Given the description of an element on the screen output the (x, y) to click on. 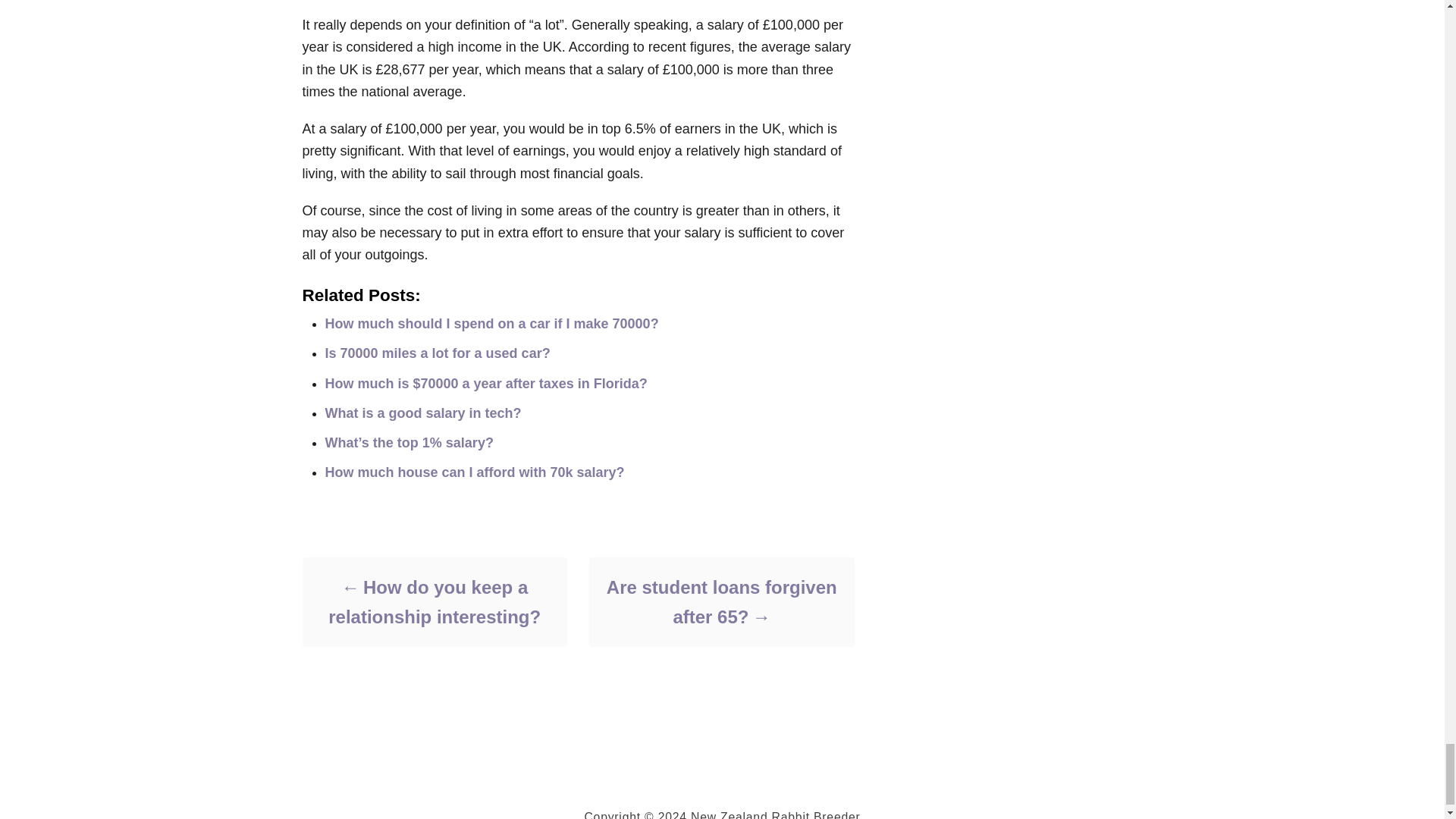
How much house can I afford with 70k salary? (474, 472)
How much should I spend on a car if I make 70000? (491, 323)
What is a good salary in tech? (422, 412)
Are student loans forgiven after 65? (721, 601)
How do you keep a relationship interesting? (434, 601)
Is 70000 miles a lot for a used car? (437, 353)
